Given the description of an element on the screen output the (x, y) to click on. 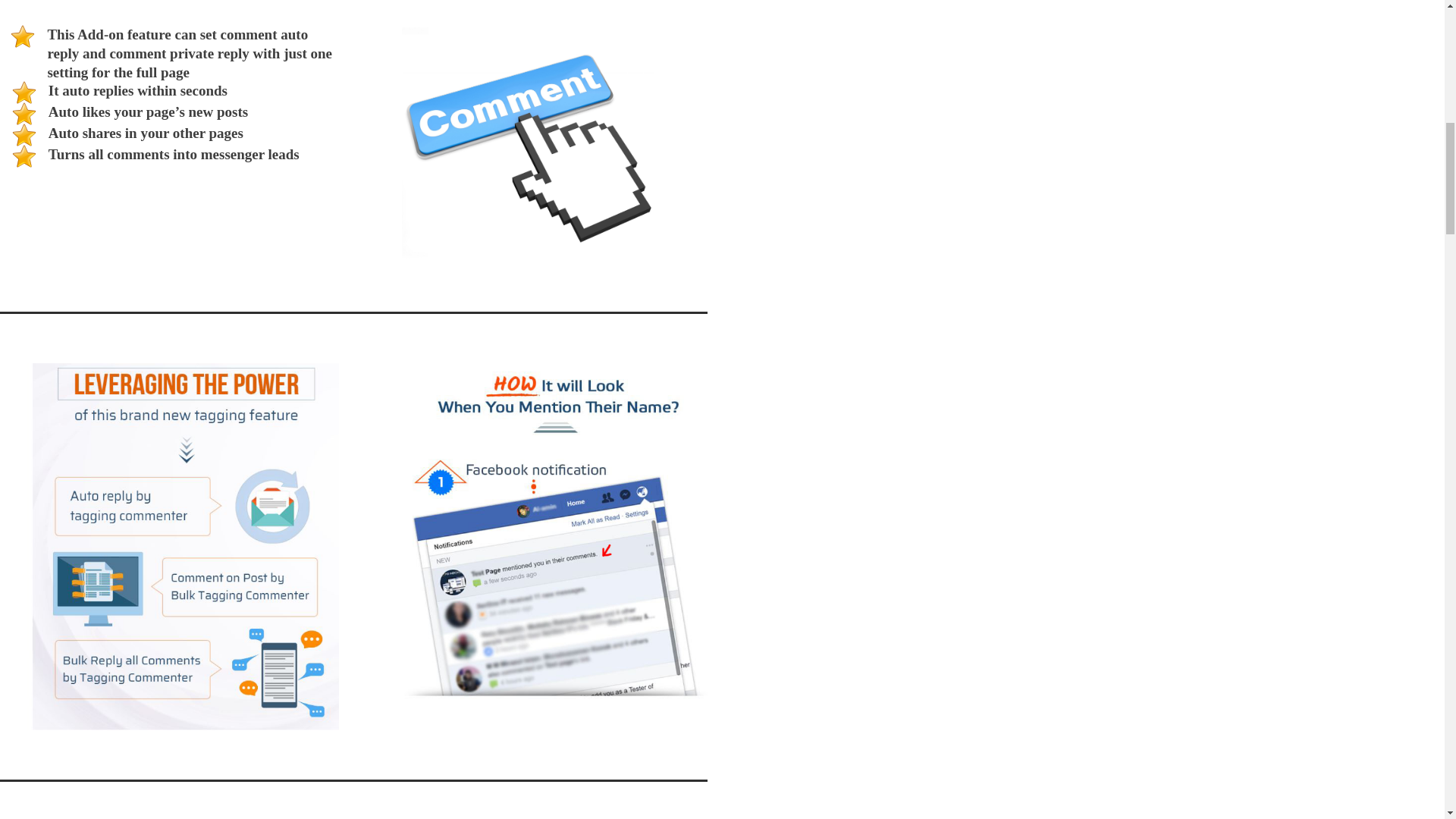
star-icon-32 (23, 92)
oto1pic2 (551, 533)
star-icon-32 (23, 134)
comment-png-8 (527, 144)
star-icon-32 (23, 113)
star-icon-32 (23, 156)
star-icon-32 (22, 36)
